Given the description of an element on the screen output the (x, y) to click on. 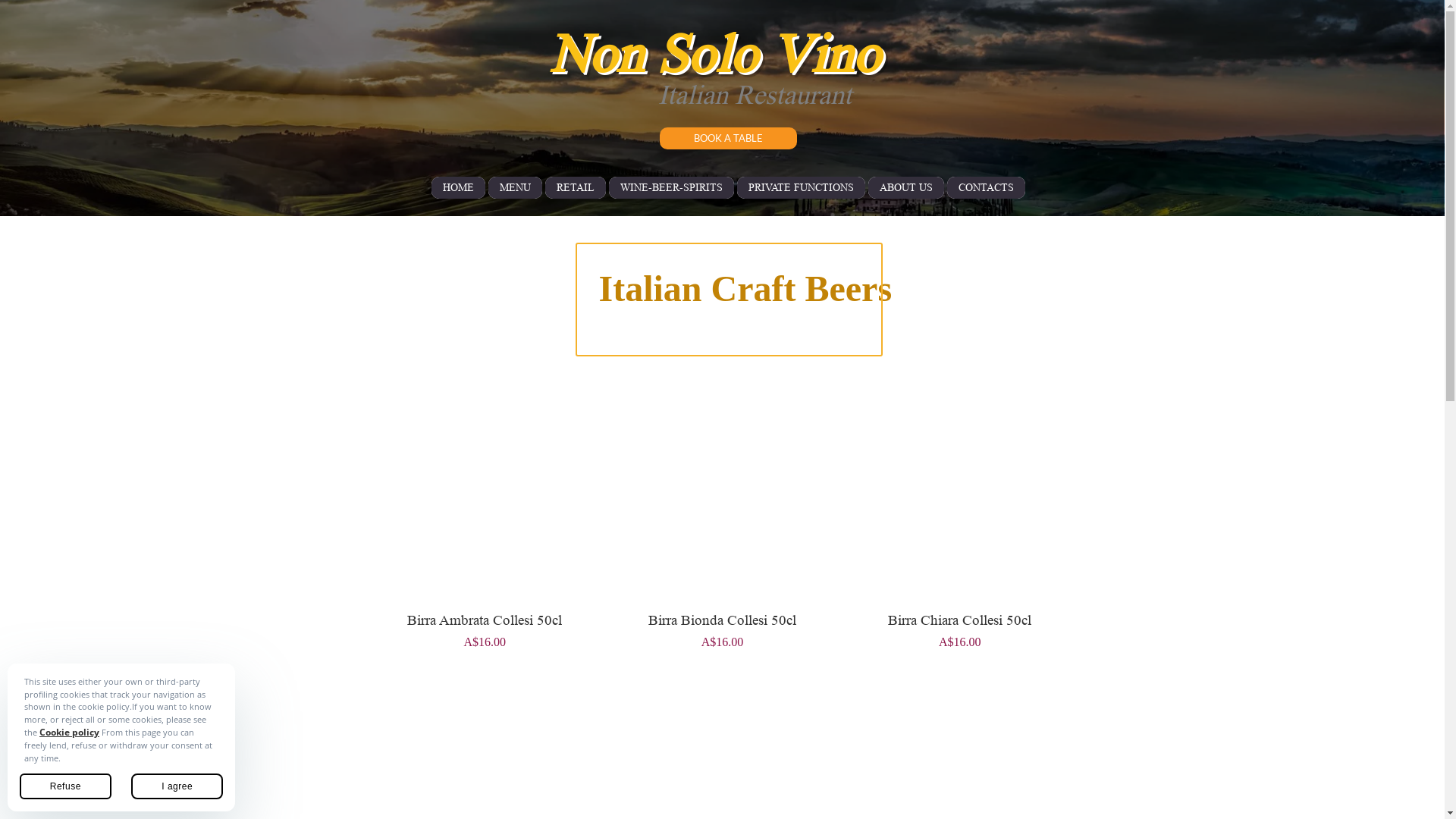
Cookie policy Element type: text (69, 731)
